Given the description of an element on the screen output the (x, y) to click on. 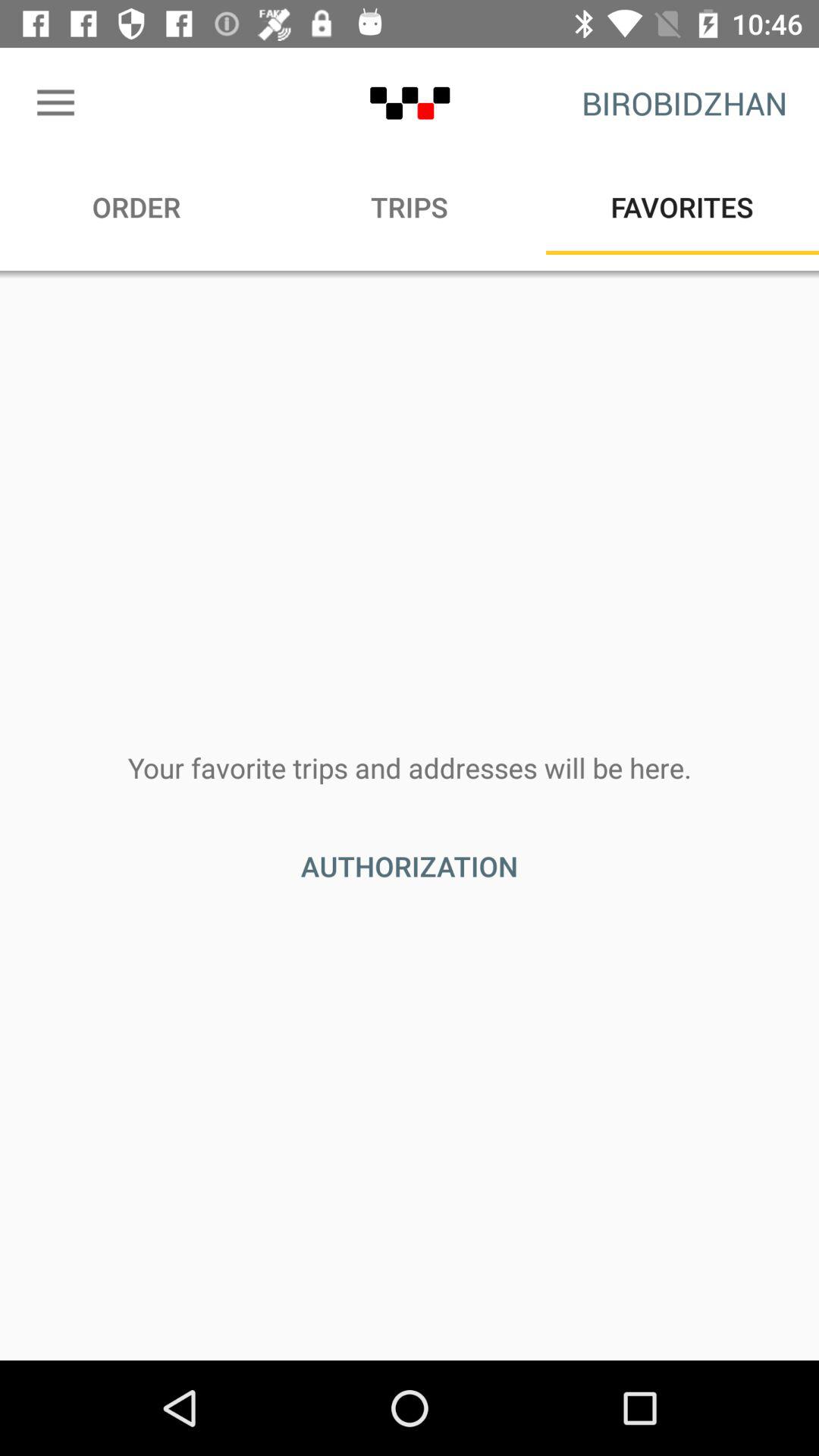
tap icon below the your favorite trips (409, 865)
